Given the description of an element on the screen output the (x, y) to click on. 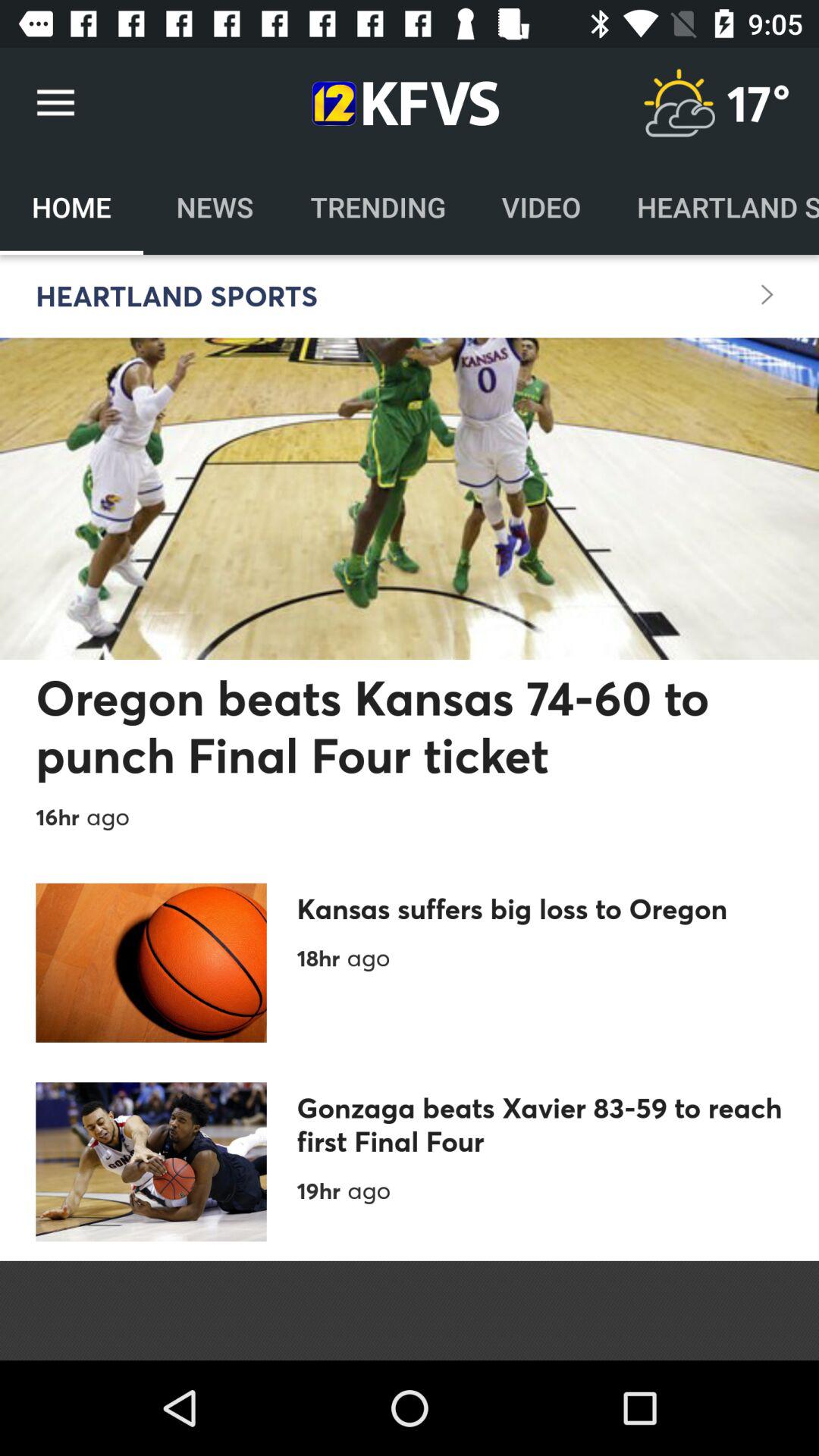
show weather (678, 103)
